Given the description of an element on the screen output the (x, y) to click on. 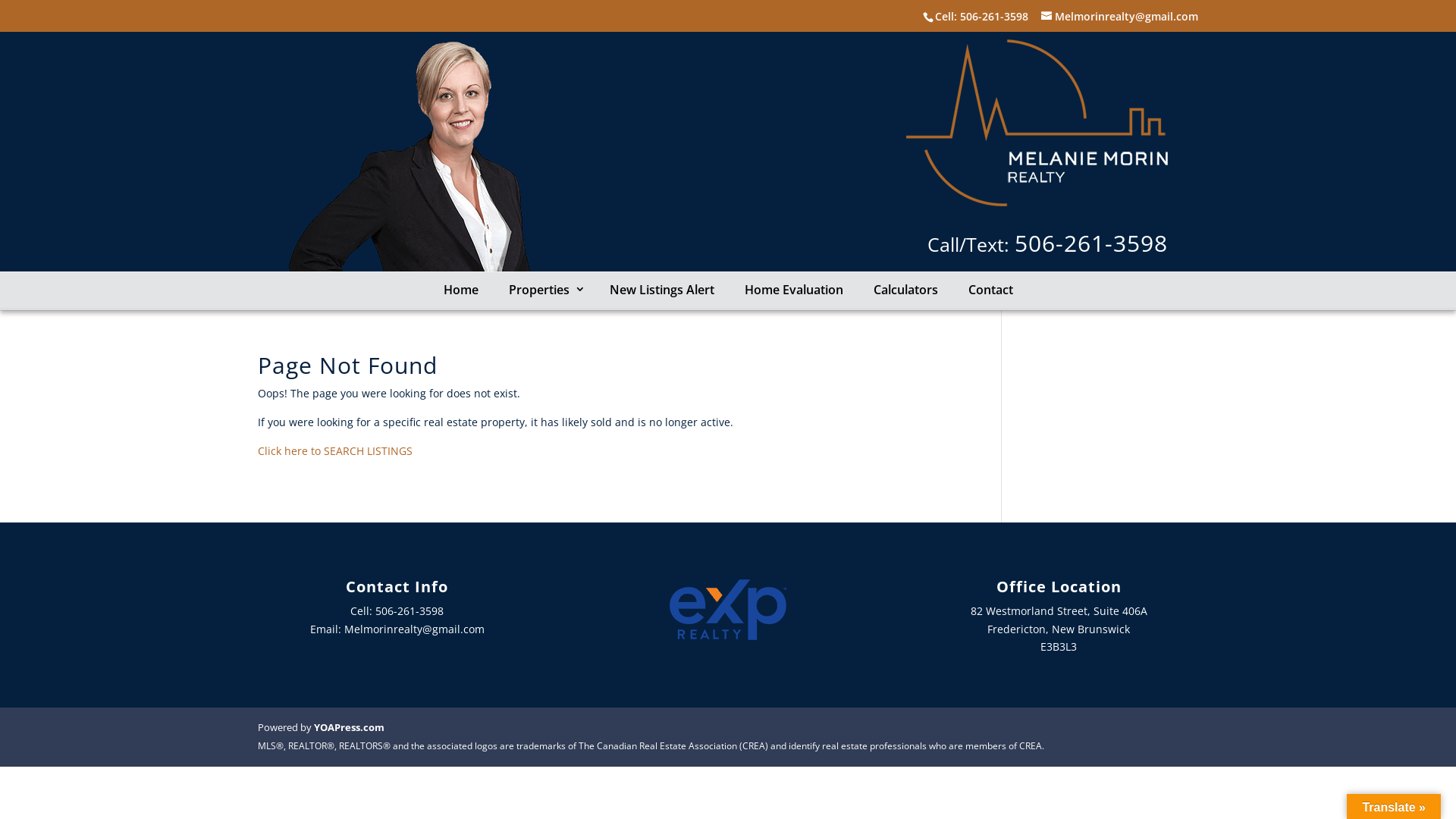
Melmorinrealty@gmail.com Element type: text (414, 628)
Calculators Element type: text (905, 290)
Melmorinrealty@gmail.com Element type: text (1119, 16)
Click here to SEARCH LISTINGS Element type: text (334, 450)
Properties Element type: text (543, 289)
506-261-3598 Element type: text (994, 16)
Home Evaluation Element type: text (793, 290)
Home Element type: text (460, 290)
Contact Element type: text (989, 290)
New Listings Alert Element type: text (662, 290)
506-261-3598 Element type: text (1090, 242)
YOAPress.com Element type: text (348, 727)
